Given the description of an element on the screen output the (x, y) to click on. 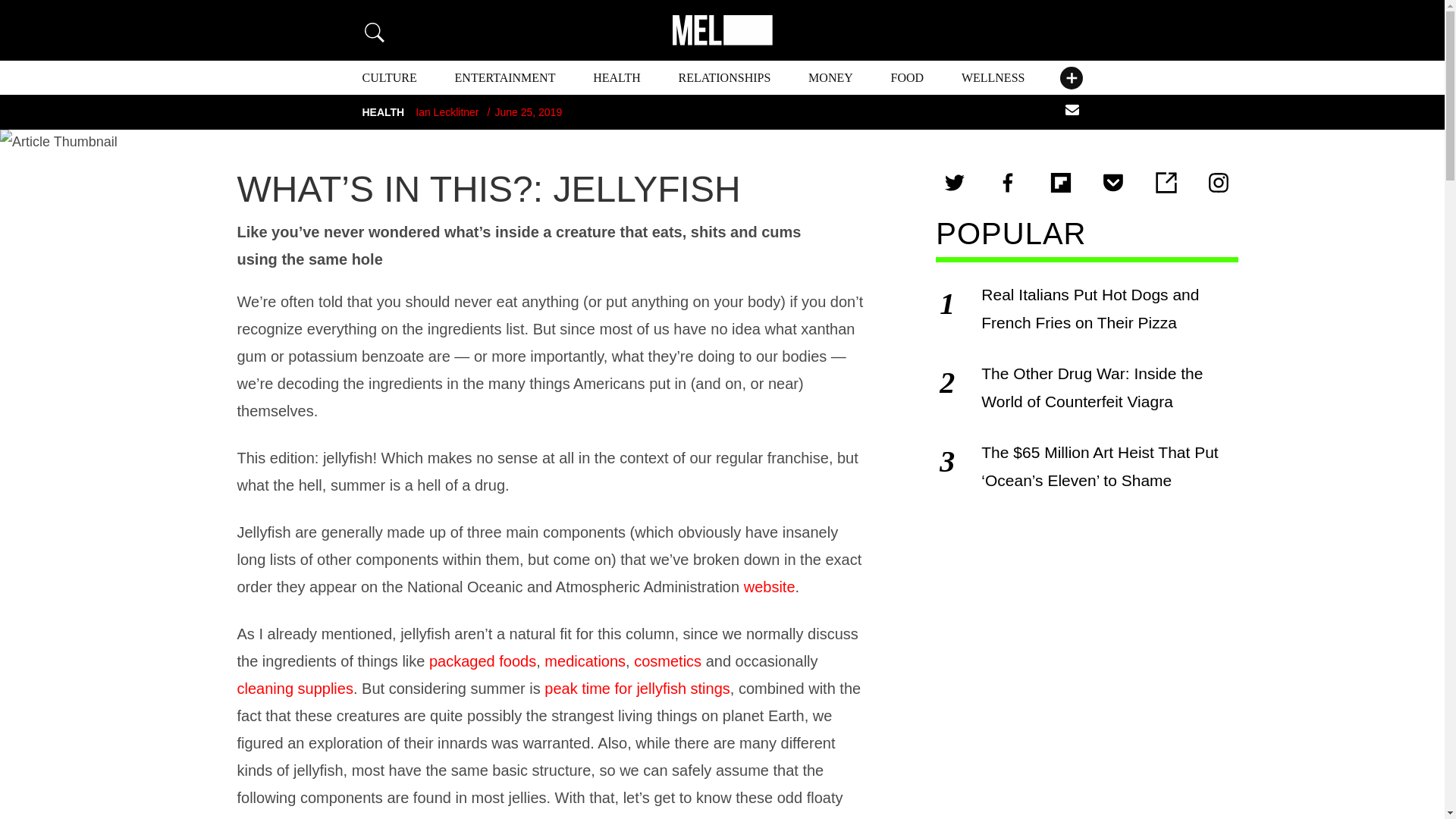
HEALTH (616, 77)
MONEY (830, 77)
Instagram (1218, 182)
WELLNESS (992, 77)
FOOD (907, 77)
Facebook (1007, 182)
ENTERTAINMENT (505, 77)
Posts by Ian Lecklitner (446, 111)
MEL Magazine (721, 30)
Twitter (954, 182)
Flipboard (1060, 182)
RELATIONSHIPS (724, 77)
Copy Link (1165, 182)
CULTURE (389, 77)
Pocket (1112, 182)
